Given the description of an element on the screen output the (x, y) to click on. 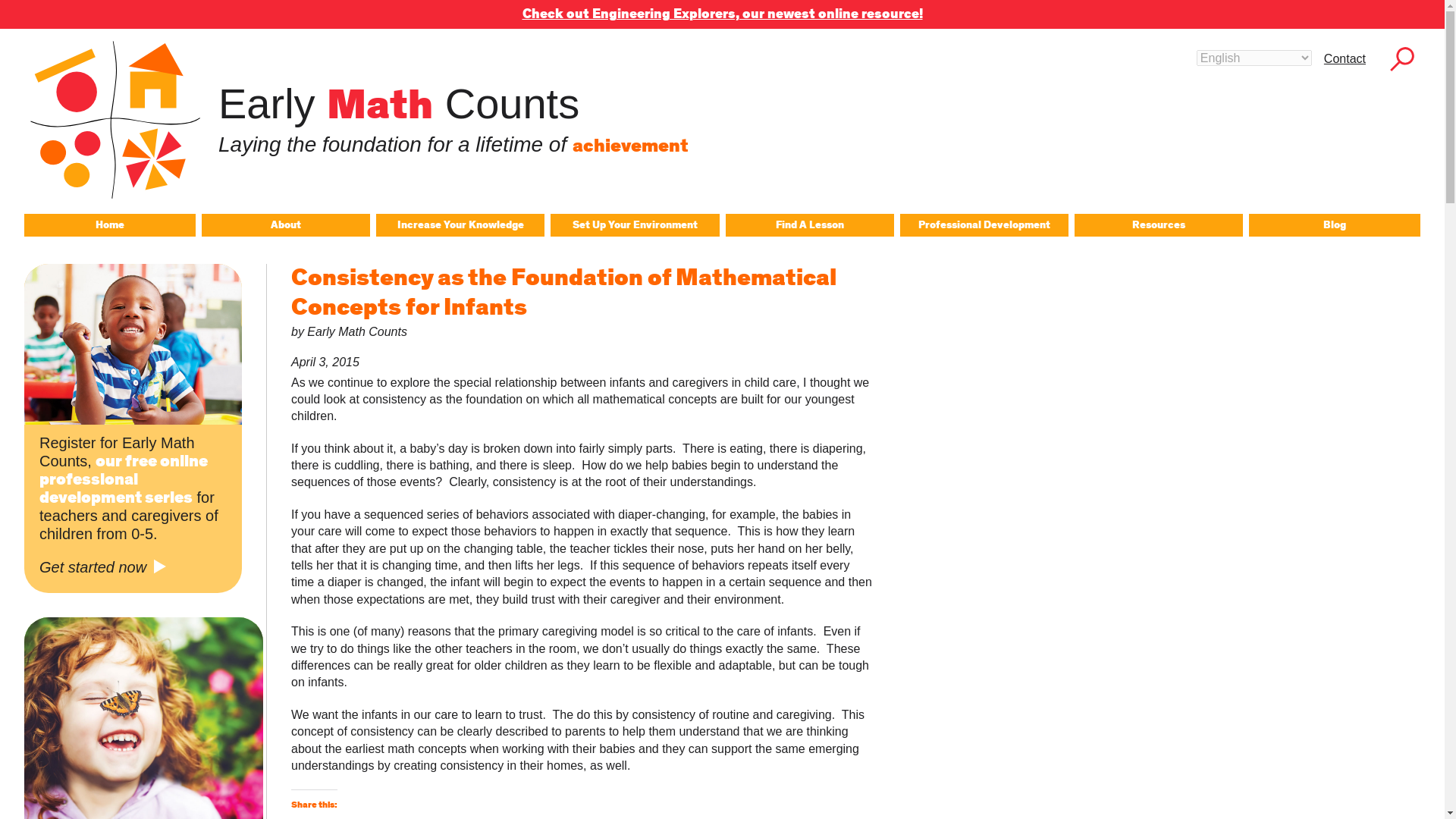
Resources (1158, 224)
Increase Your Knowledge (459, 224)
Check out Engineering Explorers, our newest online resource! (721, 13)
Professional Development (983, 224)
Set Up Your Environment (634, 224)
Find A Lesson (809, 224)
Contact (1344, 58)
Home (109, 224)
About (285, 224)
